Given the description of an element on the screen output the (x, y) to click on. 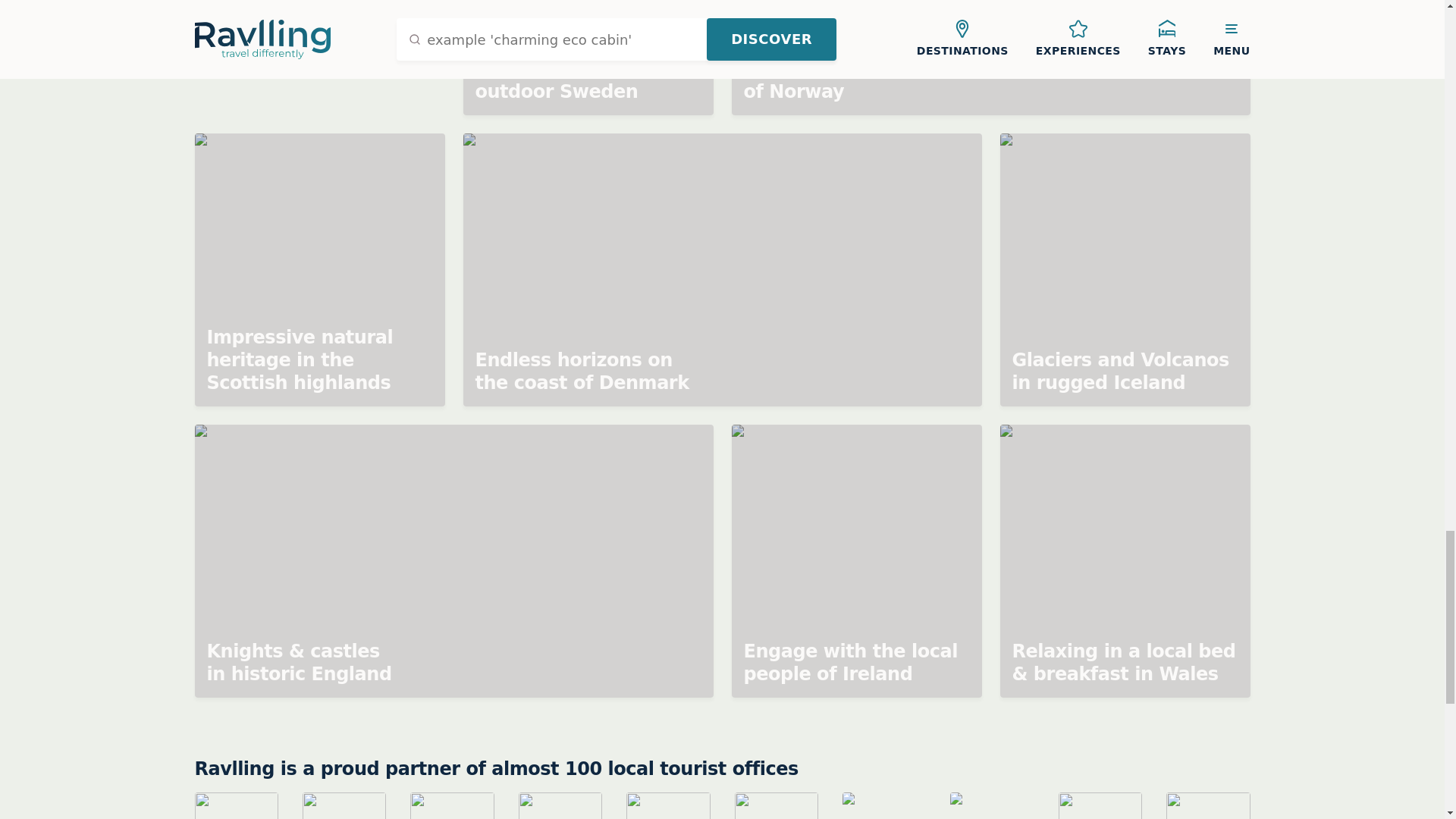
Engage with the local people of Ireland (855, 561)
Stunning Fjords of Norway (989, 57)
Unique cabins in outdoor Sweden (588, 57)
Impressive natural heritage in the Scottish highlands (318, 269)
Glaciers and Volcanos in rugged Iceland (1123, 269)
